Given the description of an element on the screen output the (x, y) to click on. 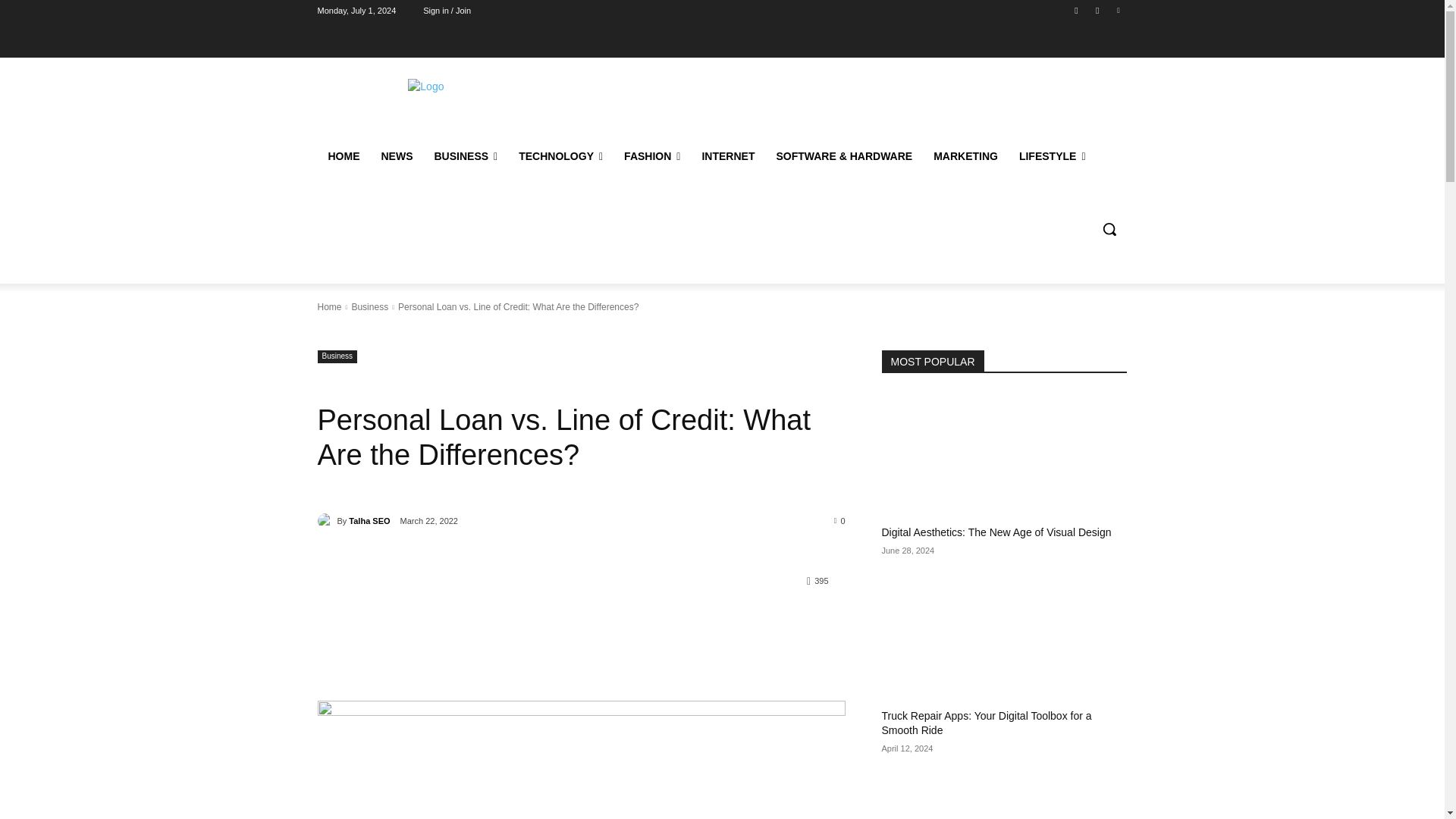
View all posts in Business (369, 307)
Linkedin (1117, 9)
HOME (343, 156)
Talha SEO (326, 520)
Facebook (1075, 9)
NEWS (396, 156)
loan-decisioning-software (580, 760)
Instagram (1097, 9)
